Given the description of an element on the screen output the (x, y) to click on. 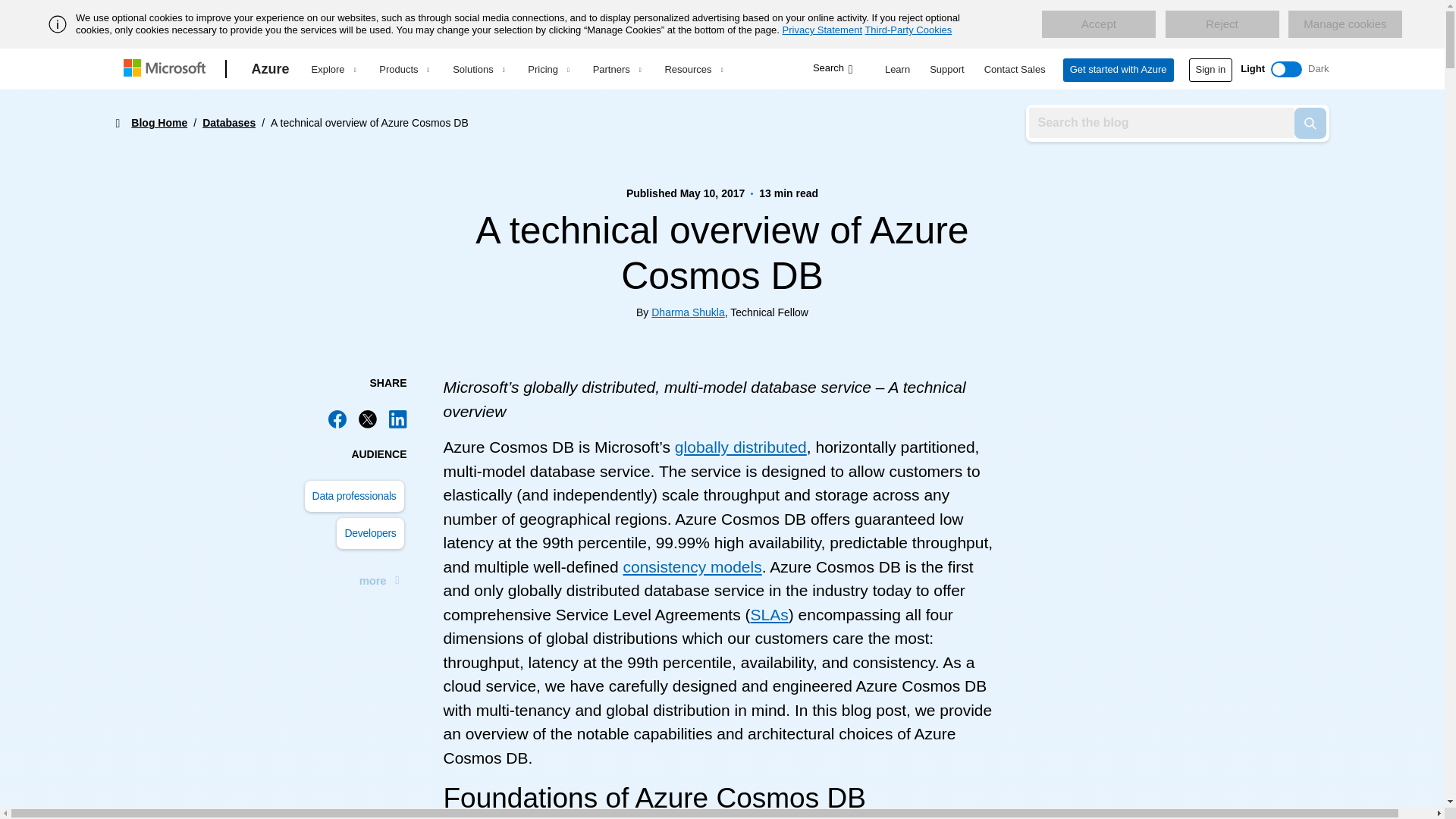
Products (403, 69)
Reject (1221, 23)
Microsoft (167, 69)
Manage cookies (1345, 23)
Accept (1099, 23)
Explore (333, 69)
Azure (270, 69)
Privacy Statement (823, 30)
Third-Party Cookies (908, 30)
